Given the description of an element on the screen output the (x, y) to click on. 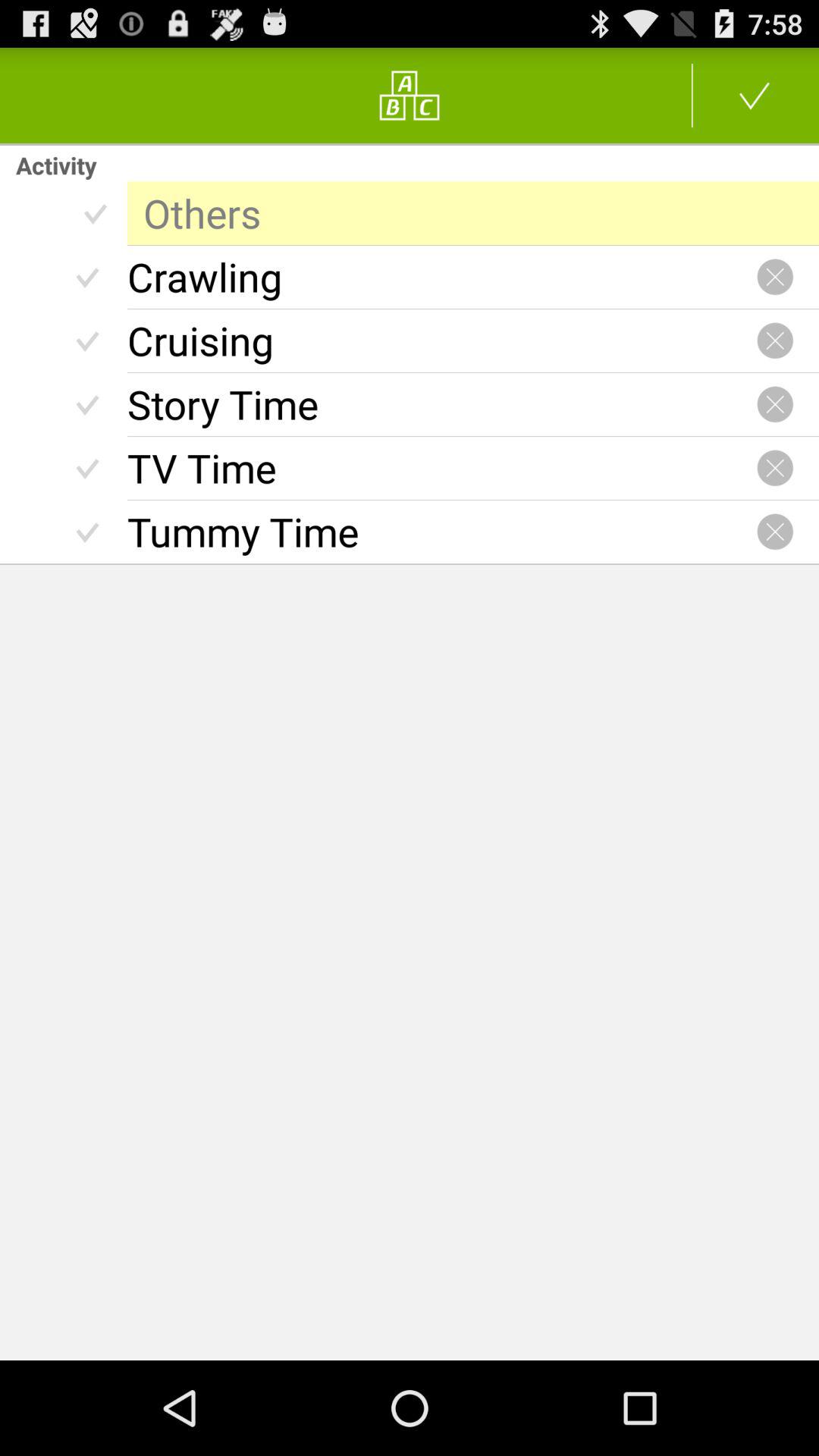
flip to cruising radio button (441, 340)
